Given the description of an element on the screen output the (x, y) to click on. 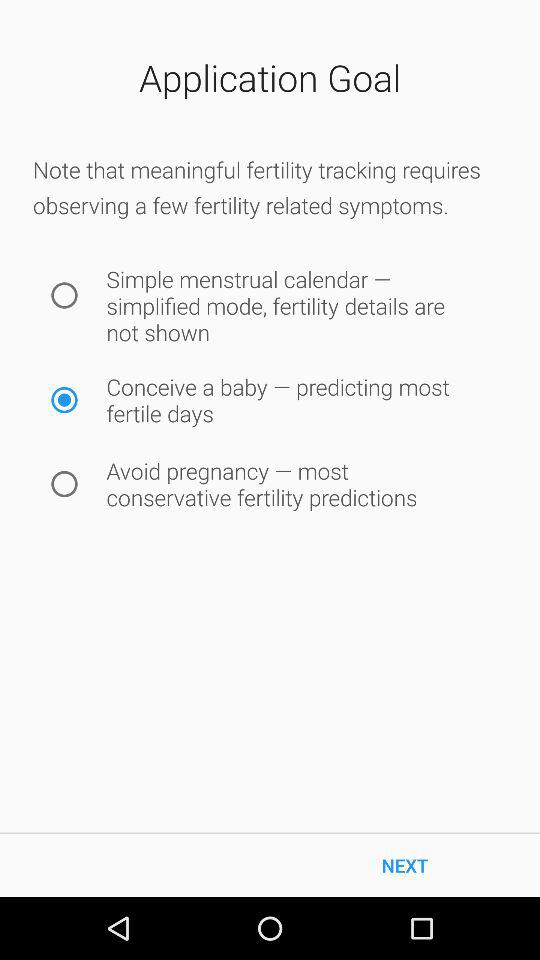
choose icon to the left of the conceive a baby icon (64, 399)
